Given the description of an element on the screen output the (x, y) to click on. 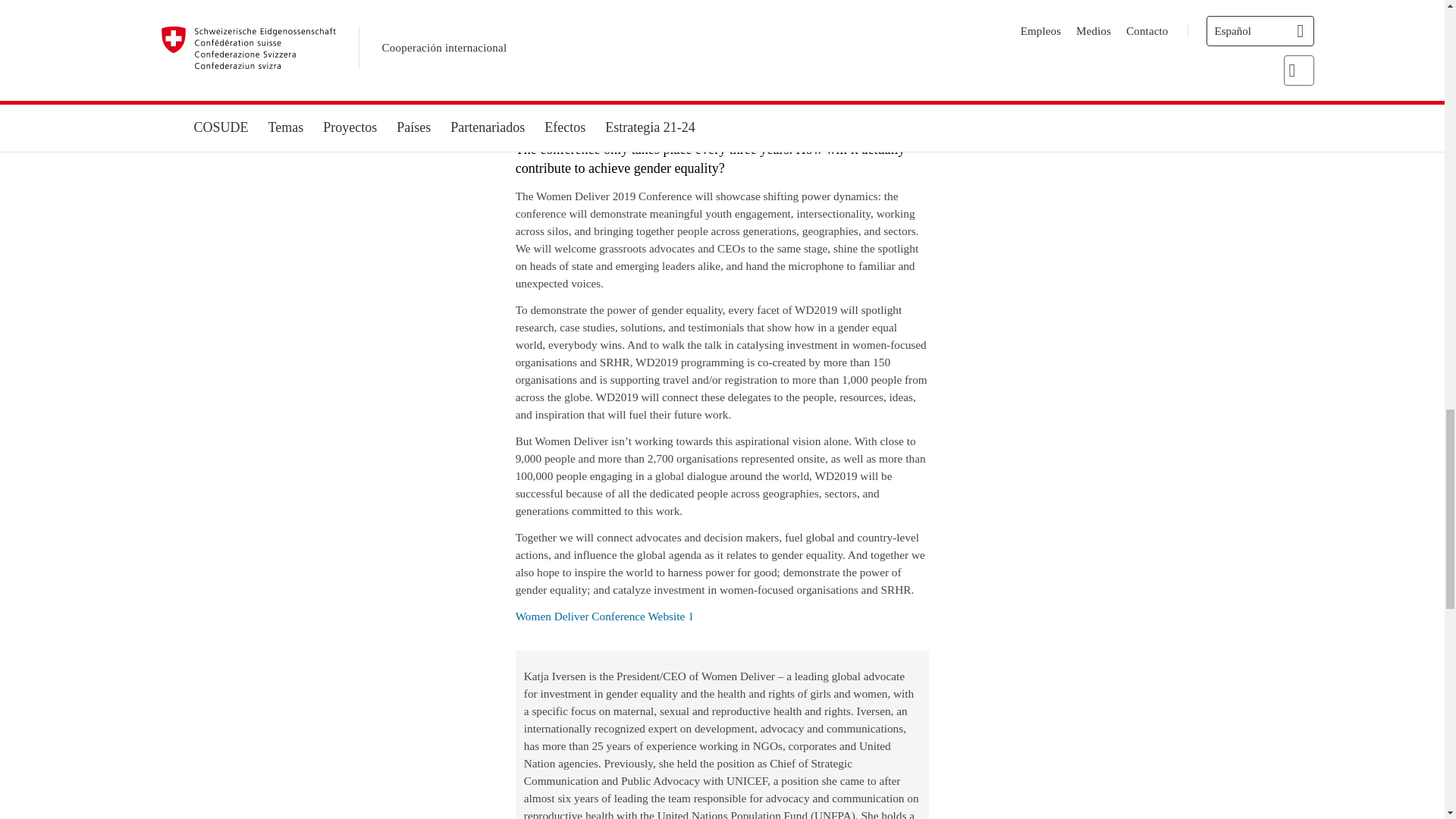
Texto oculto (604, 615)
